Given the description of an element on the screen output the (x, y) to click on. 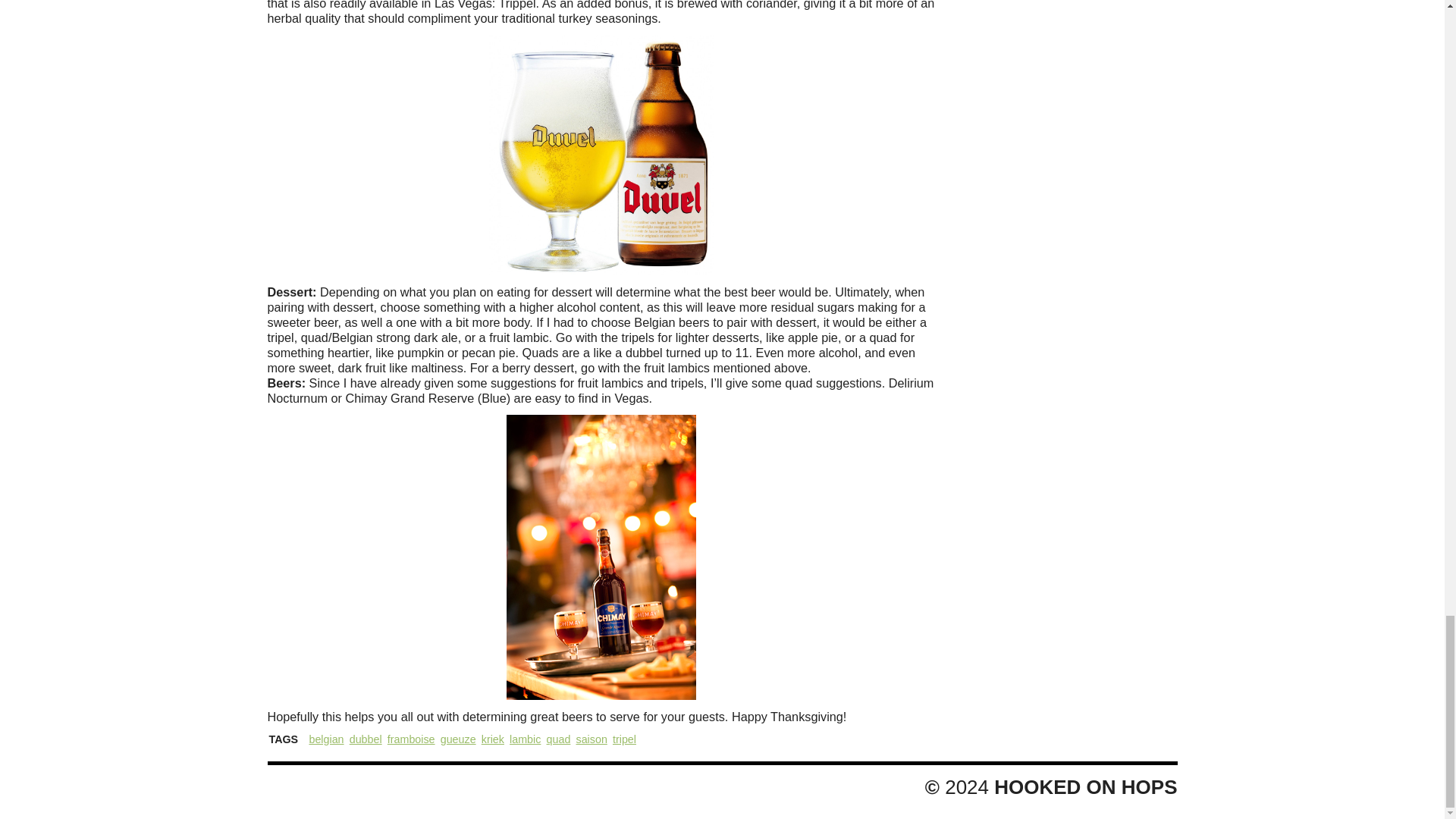
kriek (492, 739)
framboise (411, 739)
belgian (325, 739)
dubbel (365, 739)
Duvel (600, 155)
gueuze (458, 739)
lambic (524, 739)
tripel (624, 739)
quad (558, 739)
saison (591, 739)
